Given the description of an element on the screen output the (x, y) to click on. 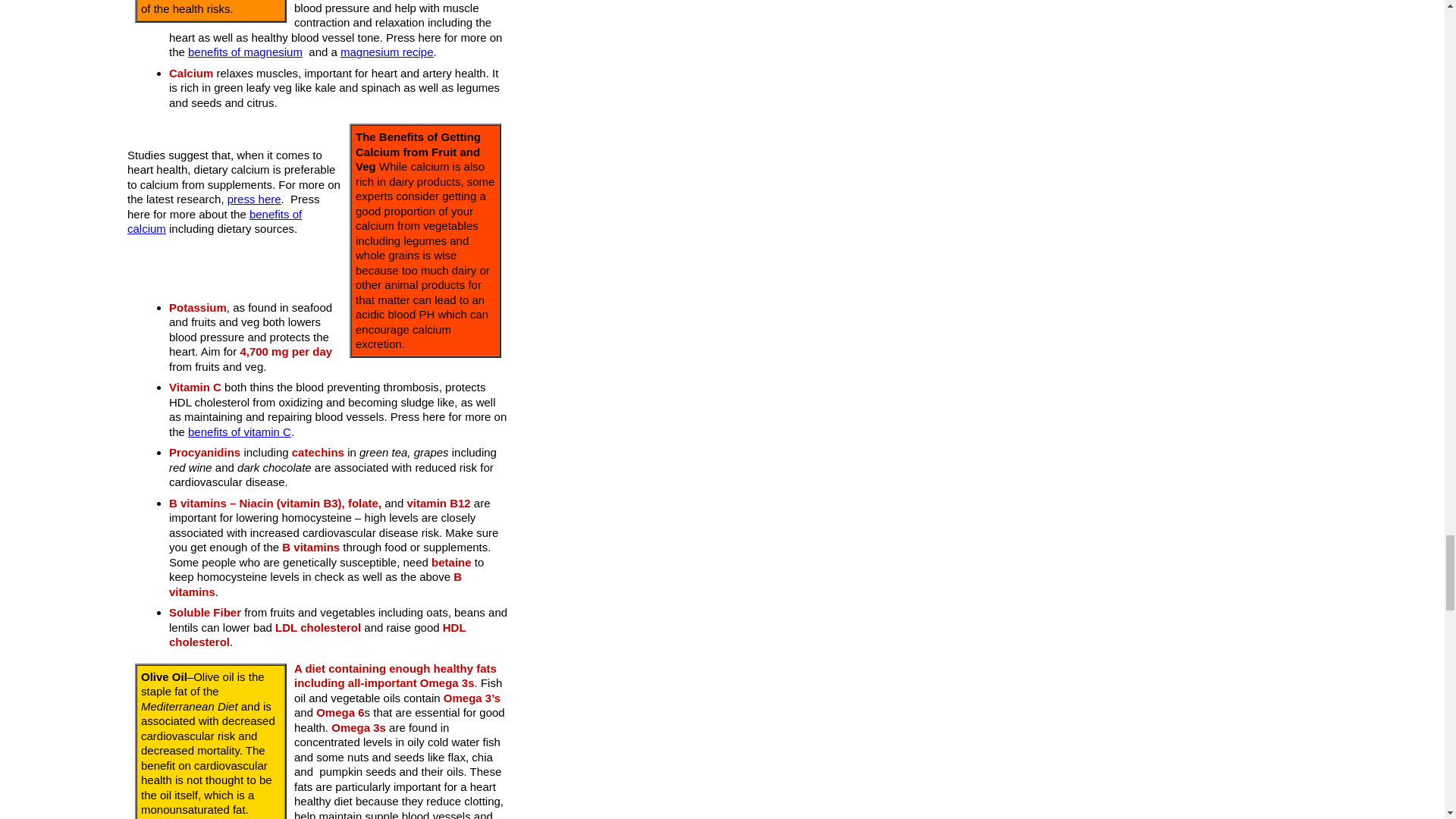
press here (254, 198)
benefits of vitamin C (239, 431)
benefits of calcium (214, 221)
magnesium recipe (386, 51)
benefits of magnesium (244, 51)
